Given the description of an element on the screen output the (x, y) to click on. 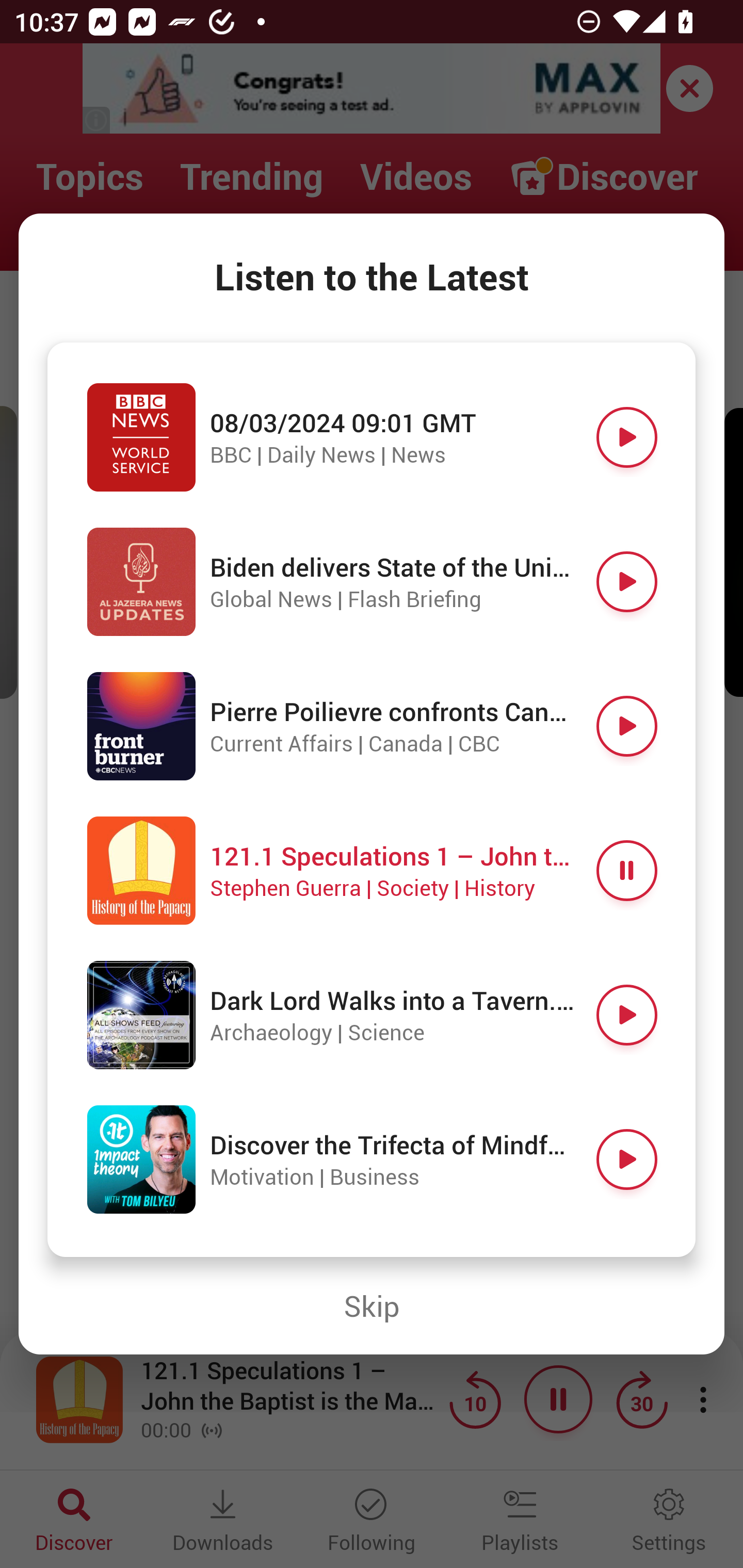
Skip (371, 1305)
